Given the description of an element on the screen output the (x, y) to click on. 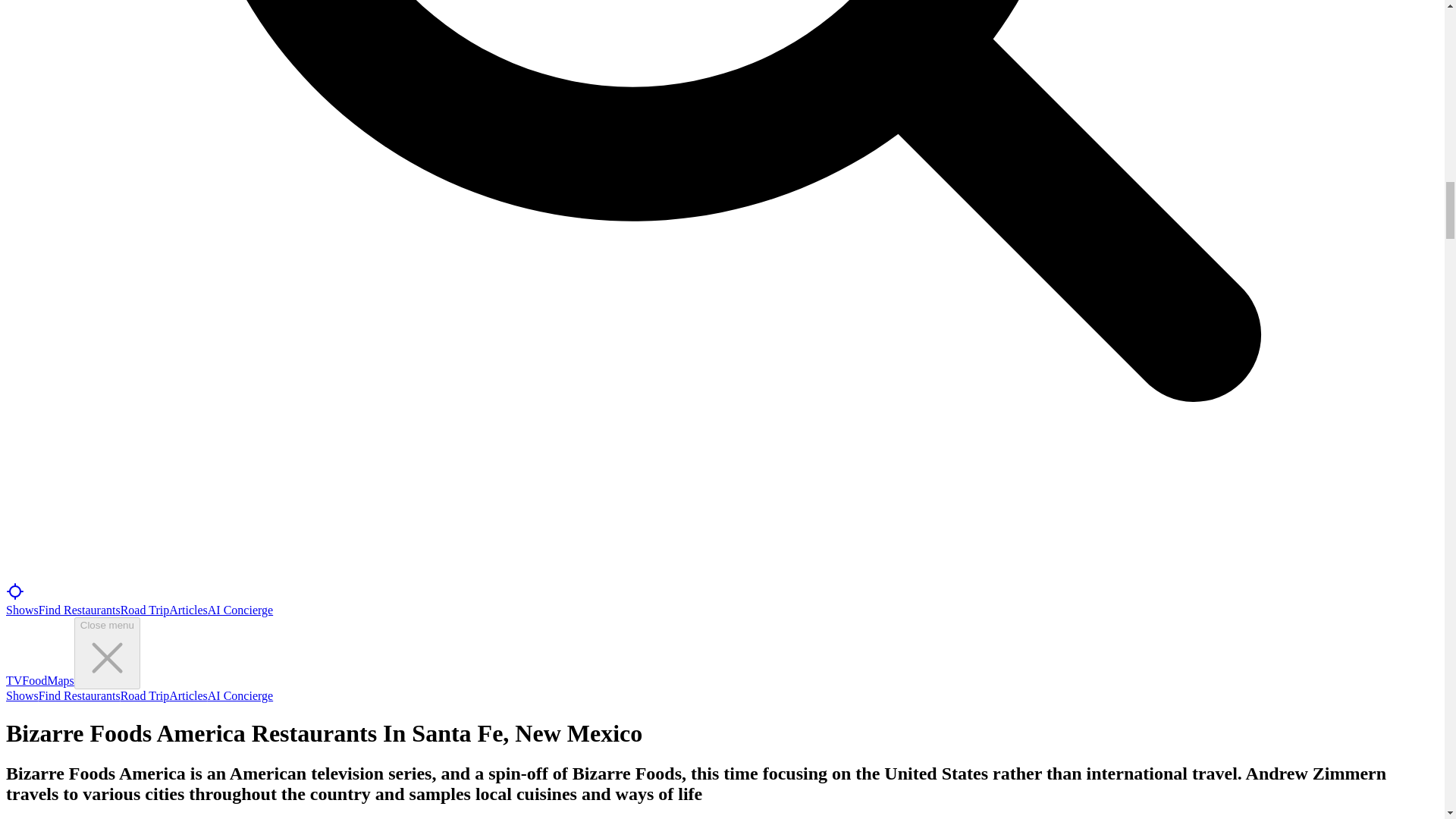
Close menu (106, 653)
Road Trip (144, 609)
Shows (22, 695)
Find Restaurants (79, 609)
AI Concierge (240, 695)
Road Trip (144, 609)
Shows (22, 609)
AI Concierge (240, 609)
Find Restaurants on TV Nearby (14, 595)
Road Trip (144, 695)
Shows (22, 695)
TVFoodMaps homepage (39, 680)
Find Restaurants (79, 695)
Articles (188, 695)
Find Restaurants (79, 609)
